Given the description of an element on the screen output the (x, y) to click on. 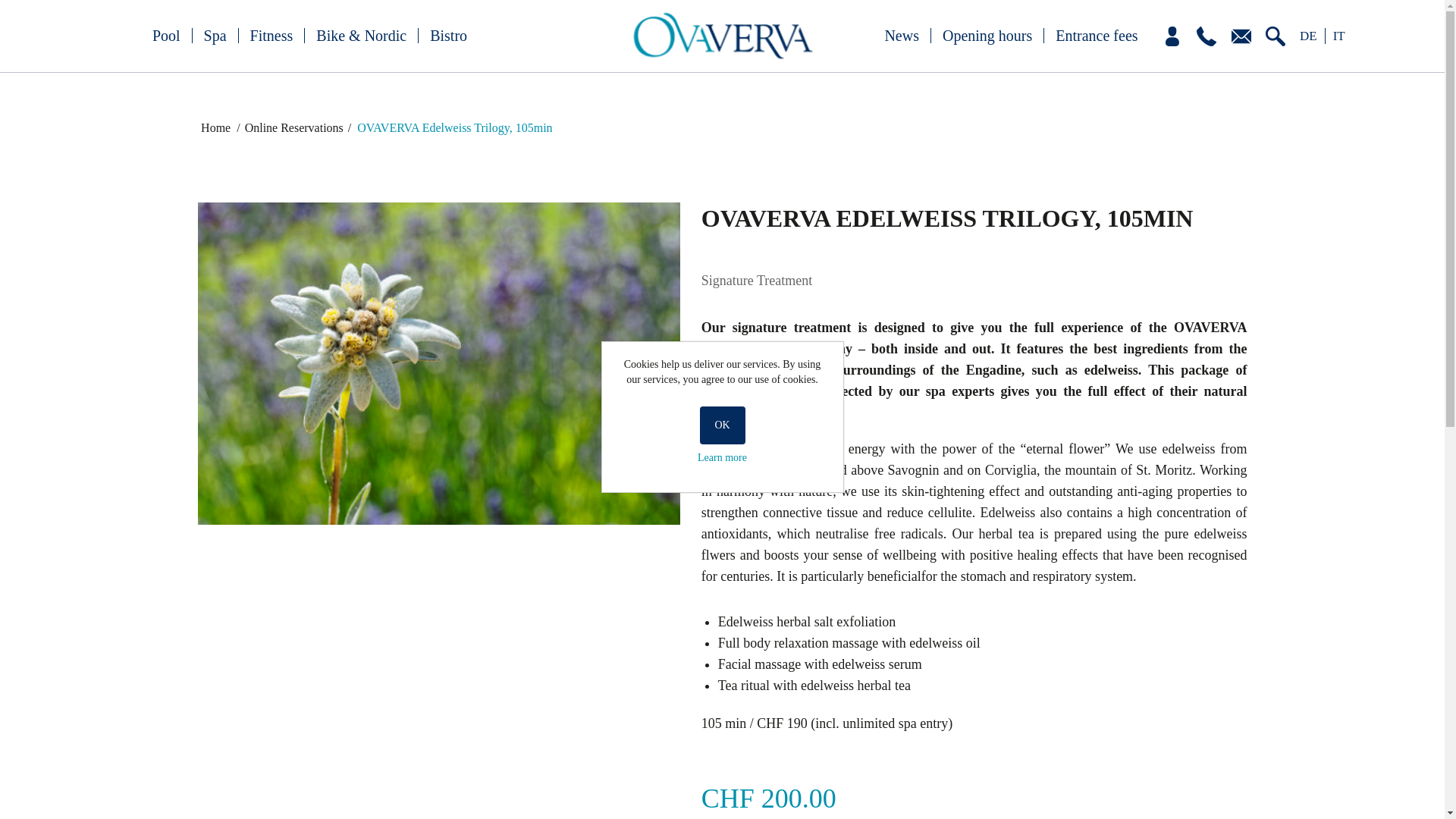
Fitness (272, 35)
Pool (166, 35)
Spa (215, 35)
DE (1308, 35)
Bistro (448, 35)
